Given the description of an element on the screen output the (x, y) to click on. 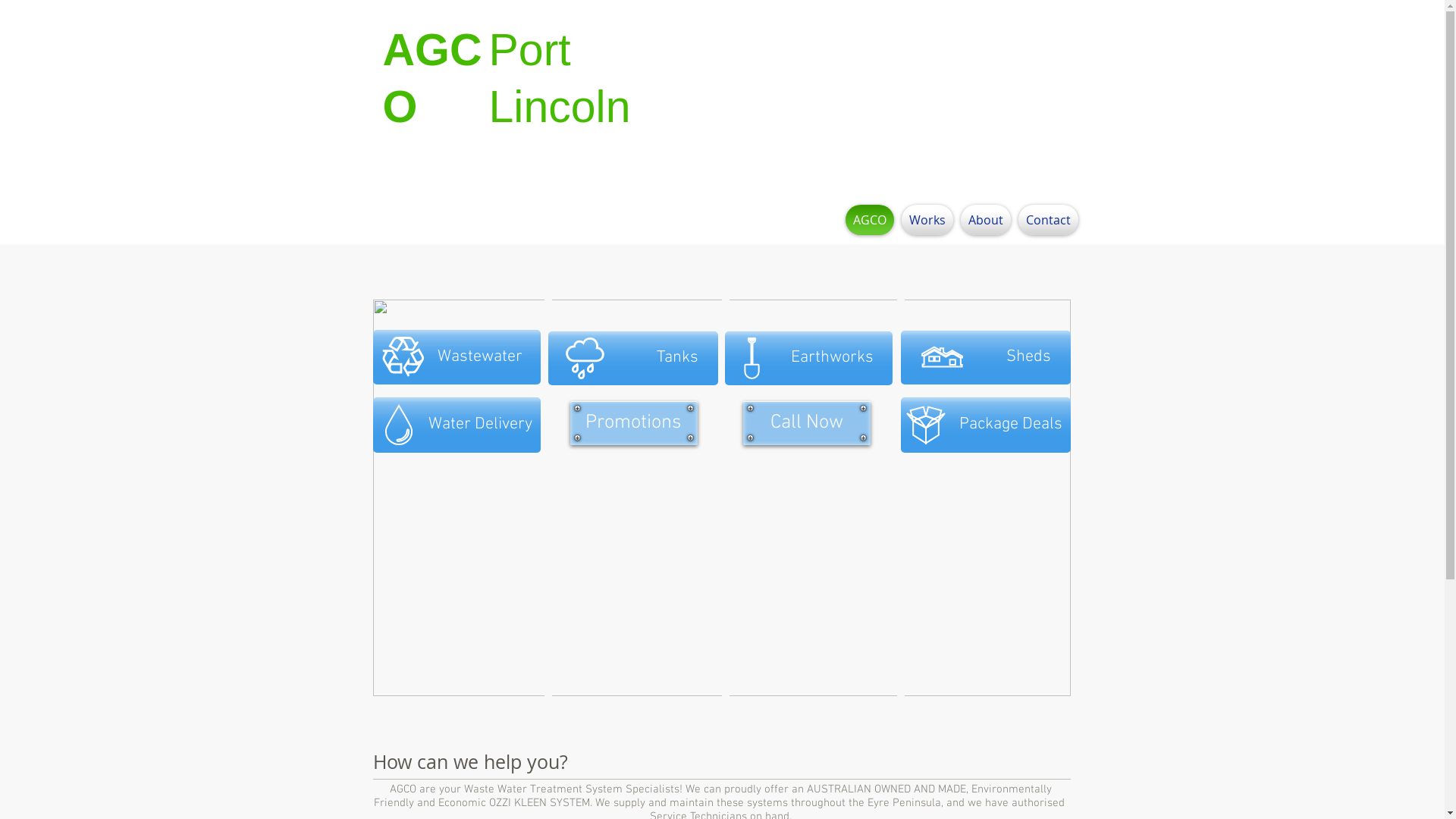
Package Deals Element type: text (985, 424)
Wastewater Element type: text (456, 356)
Earthworks Element type: text (808, 358)
AGCO Element type: text (431, 78)
Contact Element type: text (1046, 219)
Ozzikleen AGCO Element type: hover (721, 497)
Call Now Element type: text (806, 423)
About Element type: text (985, 219)
Water Delivery Element type: text (456, 424)
AGCO Element type: text (869, 219)
Promotions Element type: text (633, 423)
Tanks Element type: text (632, 358)
Port Lincoln Element type: text (559, 78)
Works Element type: text (927, 219)
Sheds Element type: text (985, 357)
